Given the description of an element on the screen output the (x, y) to click on. 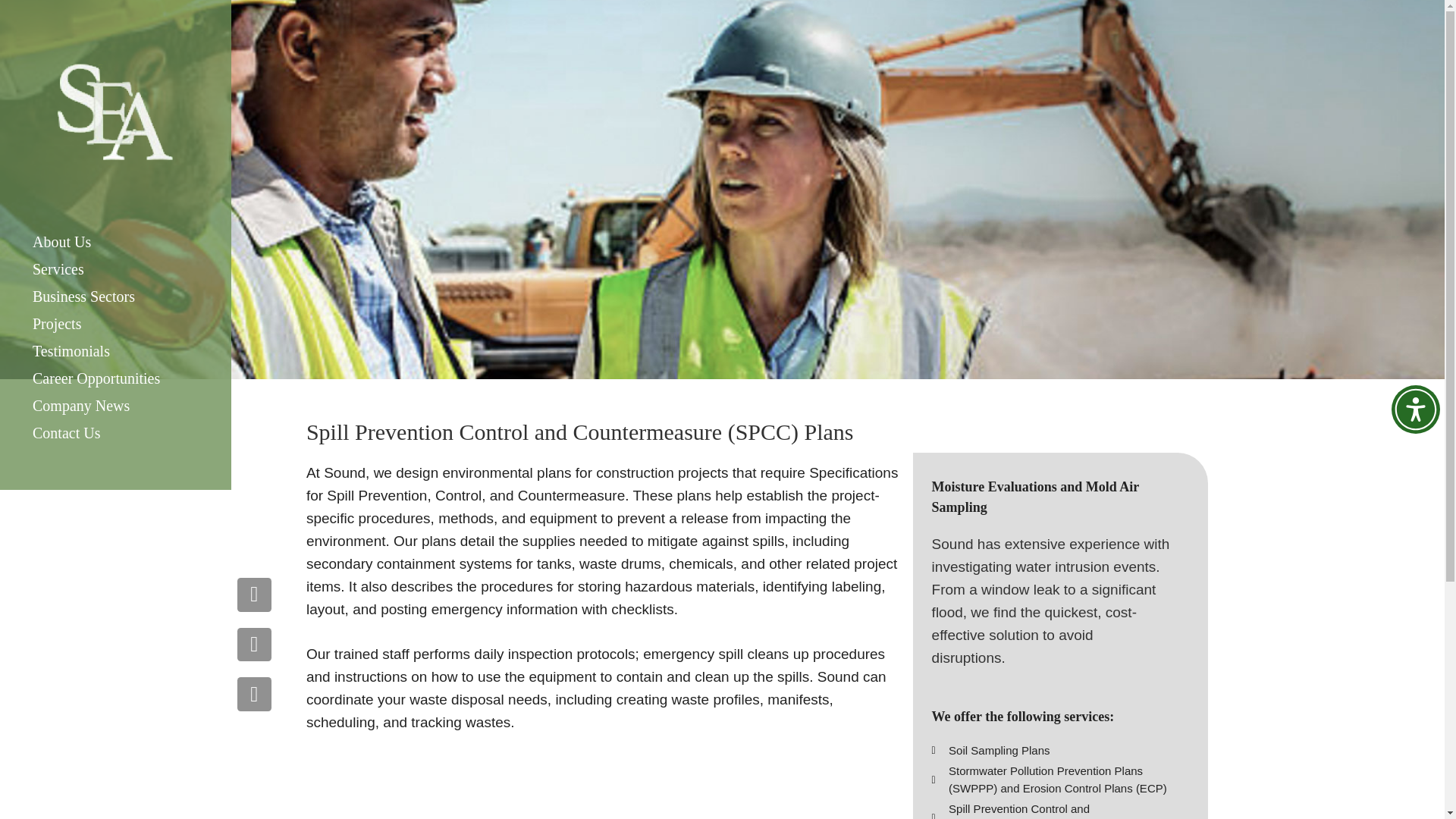
Projects (115, 323)
Services (115, 268)
Accessibility Menu (1415, 409)
Testimonials (115, 350)
Career Opportunities (115, 378)
Contact Us (115, 432)
Soil Sampling Plans (1050, 750)
About Us (115, 241)
Business Sectors (115, 296)
Company News (115, 405)
